Given the description of an element on the screen output the (x, y) to click on. 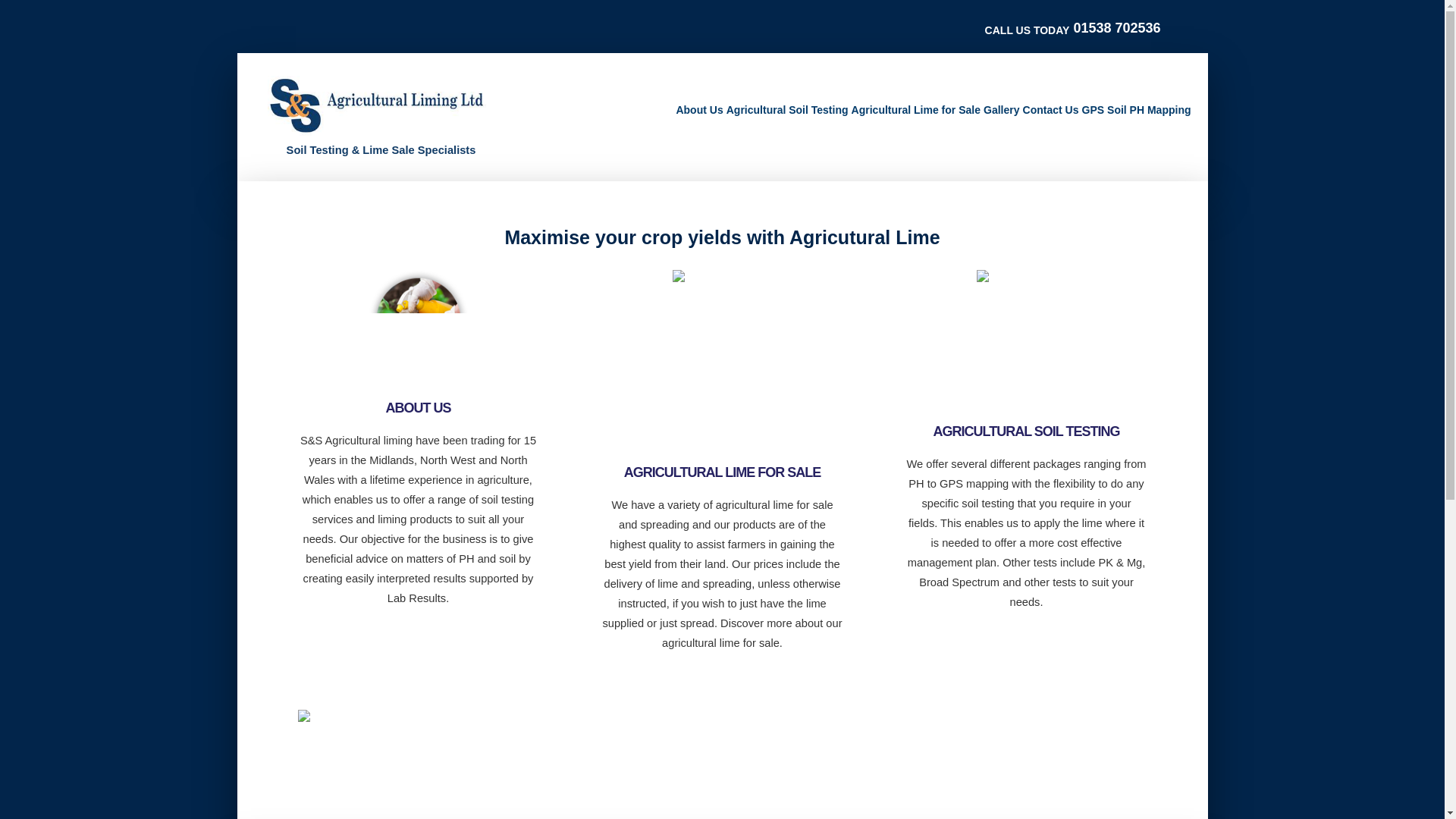
Contact Us (1050, 116)
Agricultural Soil Testing (787, 116)
Agricultural Lime for Sale (915, 116)
GPS Soil PH Mapping (1136, 116)
About Us (698, 116)
AGRICULTURAL LIME FOR SALE (722, 472)
Gallery (1001, 116)
AGRICULTURAL SOIL TESTING (1026, 431)
ABOUT US (417, 407)
